Given the description of an element on the screen output the (x, y) to click on. 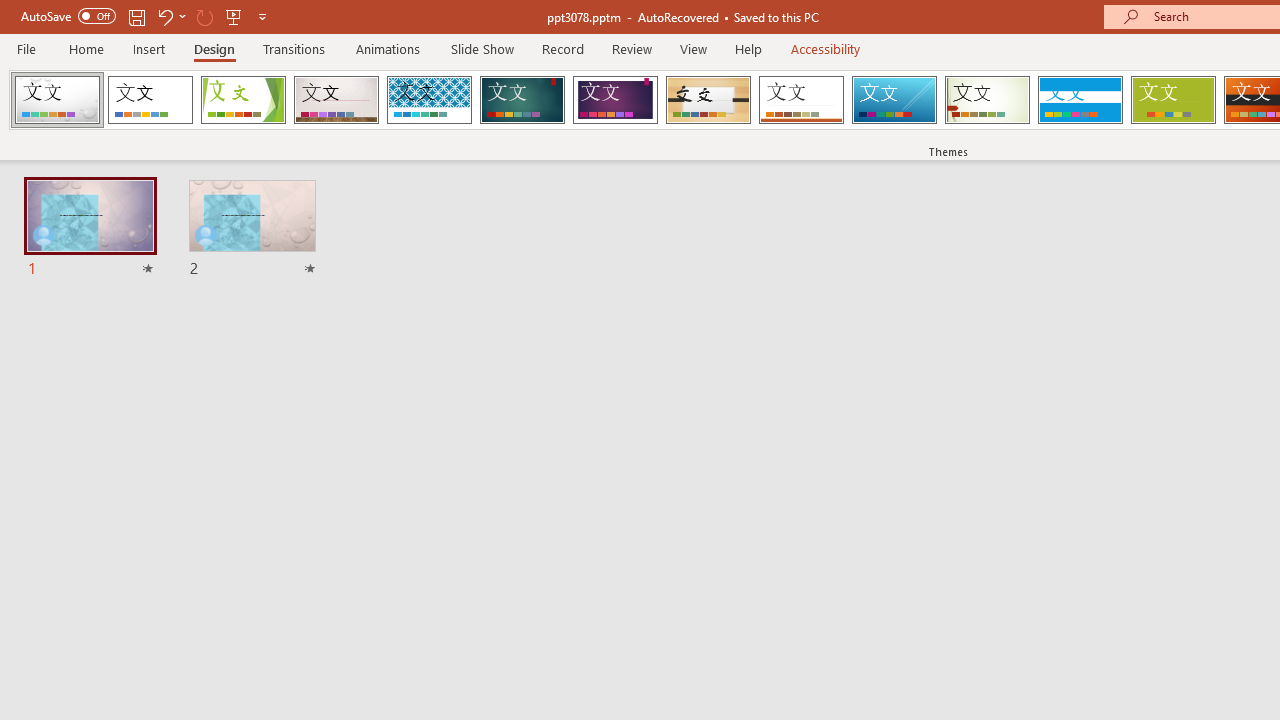
Basis (1172, 100)
Banded (1080, 100)
Organic (708, 100)
